Given the description of an element on the screen output the (x, y) to click on. 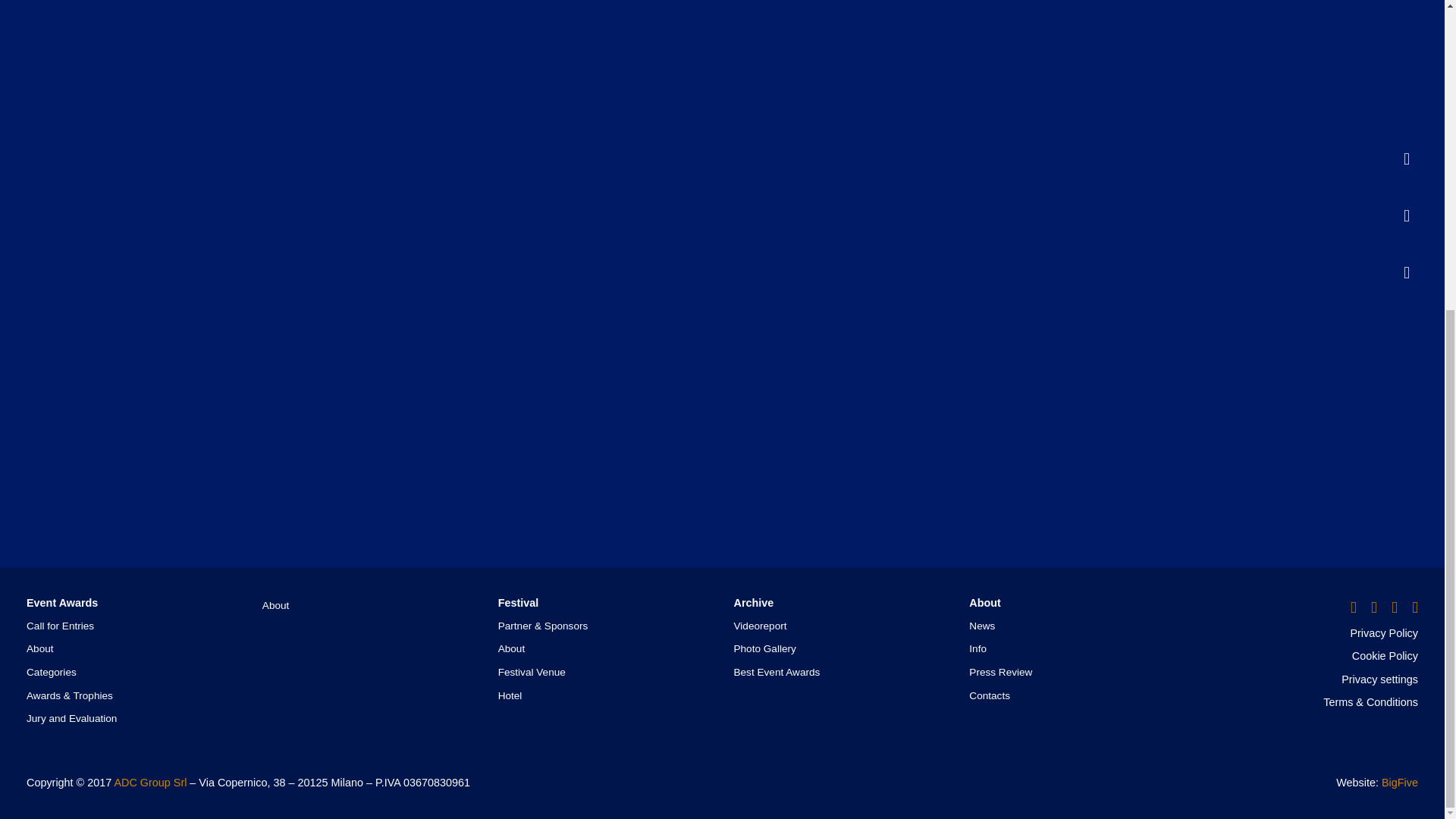
Categories (51, 672)
Call for Entries (60, 625)
About (39, 648)
Event Awards (61, 603)
